Given the description of an element on the screen output the (x, y) to click on. 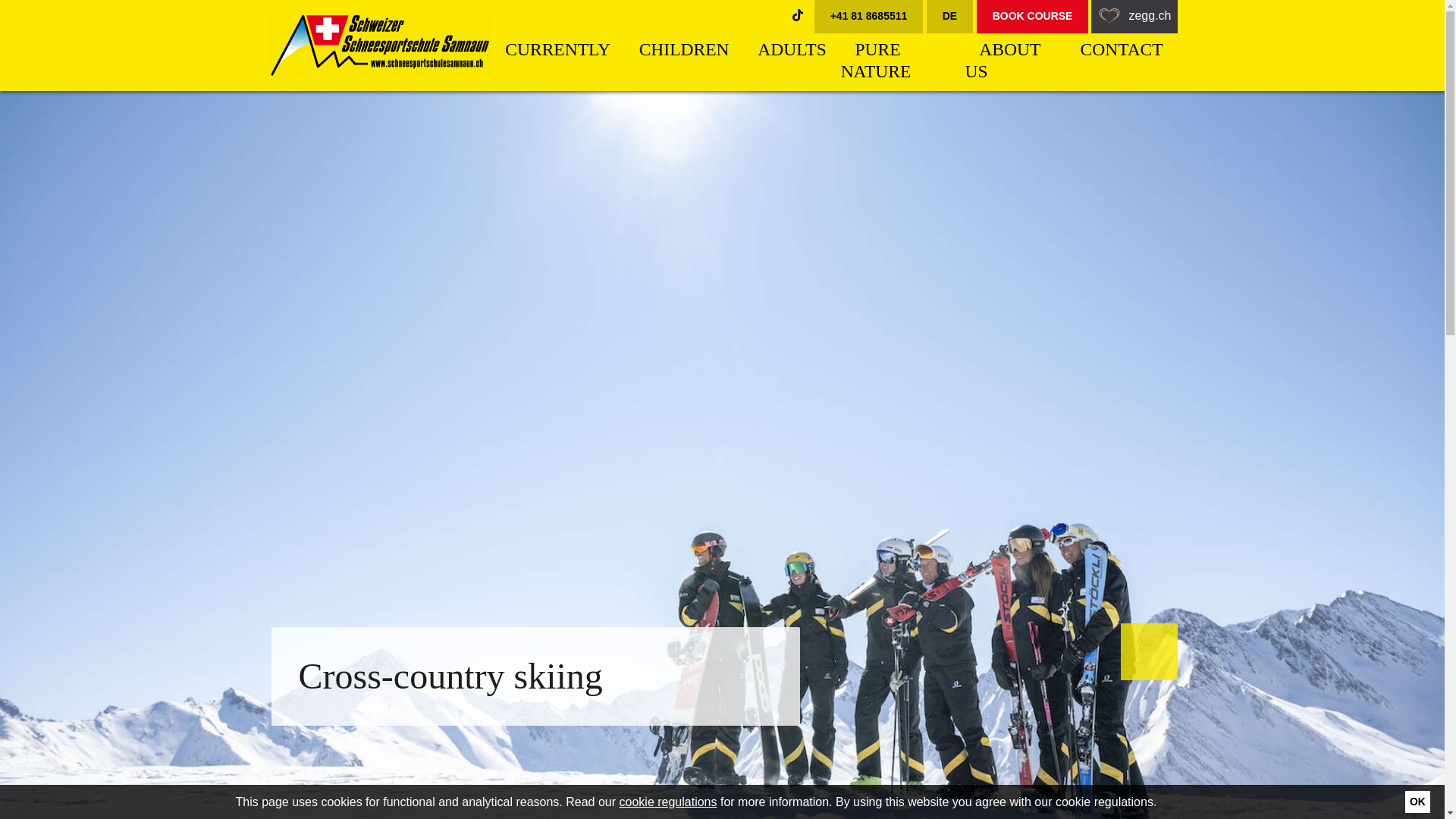
CURRENTLY (558, 54)
zegg.ch (1133, 16)
CHILDREN (684, 54)
BOOK COURSE (1032, 16)
PURE NATURE (883, 65)
ADULTS (791, 54)
DE (949, 16)
